Given the description of an element on the screen output the (x, y) to click on. 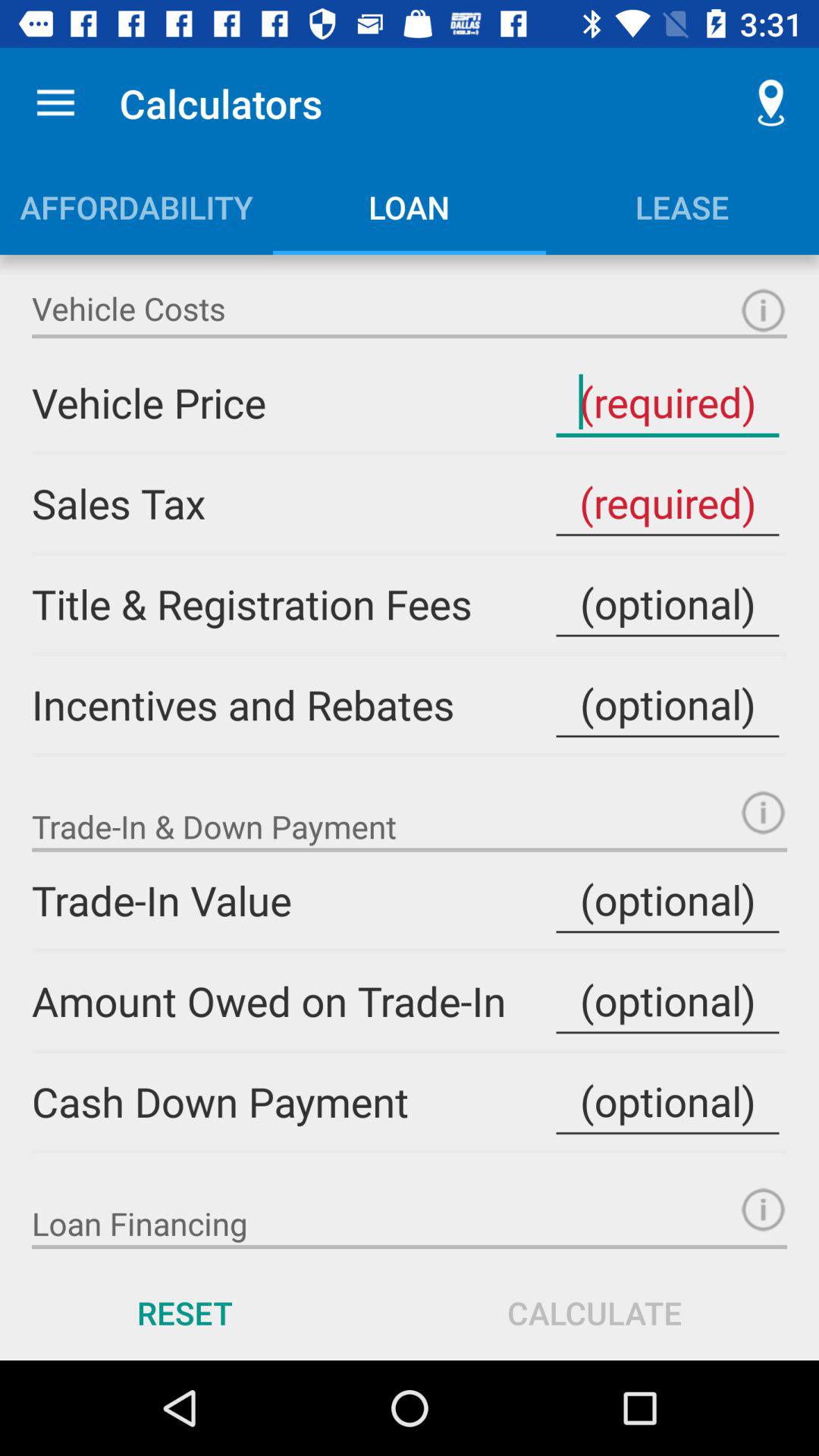
price of vehicle (667, 402)
